Given the description of an element on the screen output the (x, y) to click on. 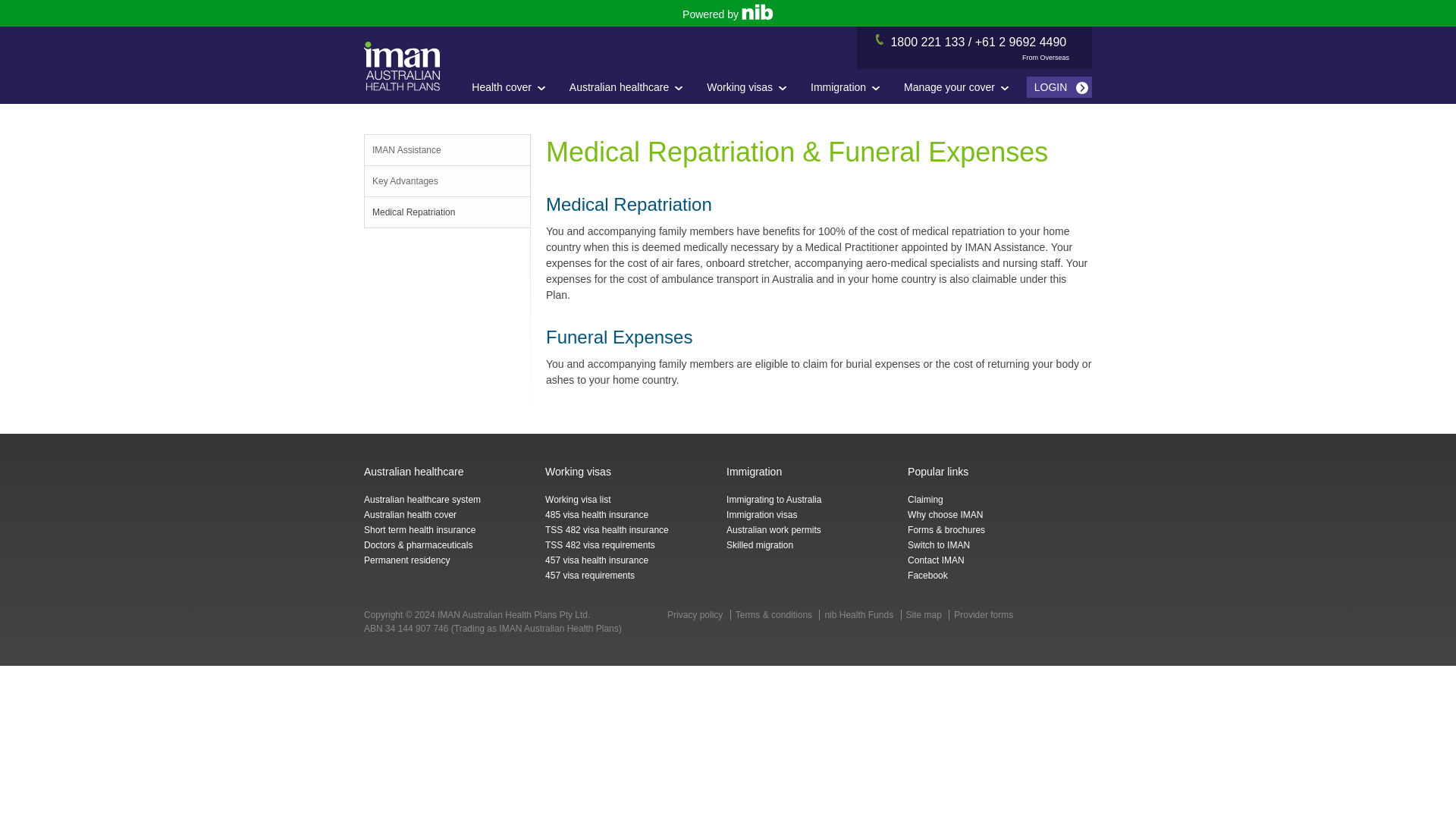
IMAN Australian Health Plans (401, 65)
Health cover (512, 87)
Working visas (751, 87)
Working visas (751, 87)
Australian healthcare (630, 87)
IMAN Australian Health Plans (401, 65)
Health cover (512, 87)
Immigration (850, 87)
Australian healthcare (630, 87)
1800 221 133 (926, 42)
nib nib logo (757, 12)
LOGIN   (1060, 87)
Manage your cover (960, 87)
Immigration (850, 87)
